Given the description of an element on the screen output the (x, y) to click on. 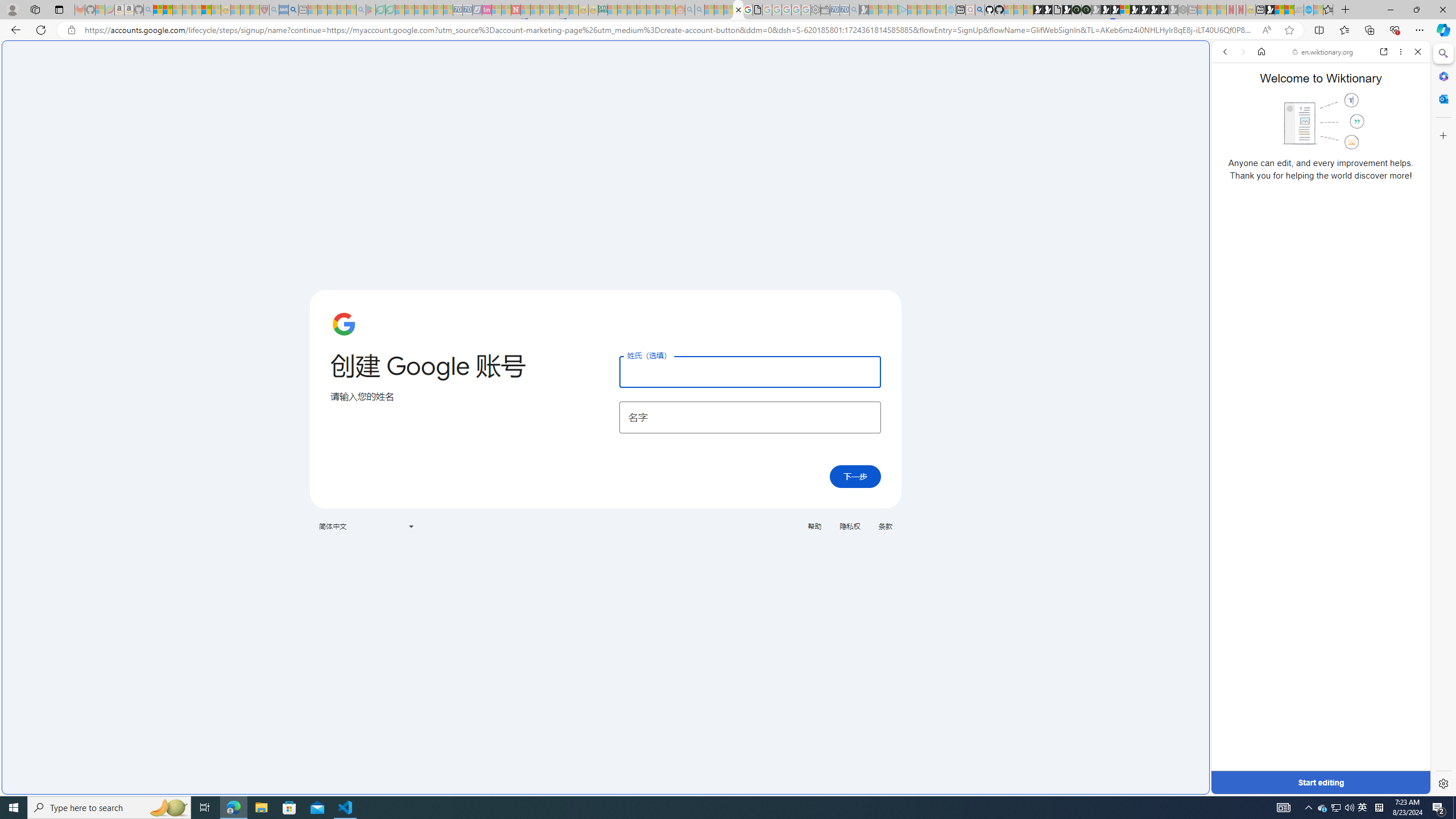
Future Focus Report 2024 (1085, 9)
Wiktionary (1315, 380)
